Given the description of an element on the screen output the (x, y) to click on. 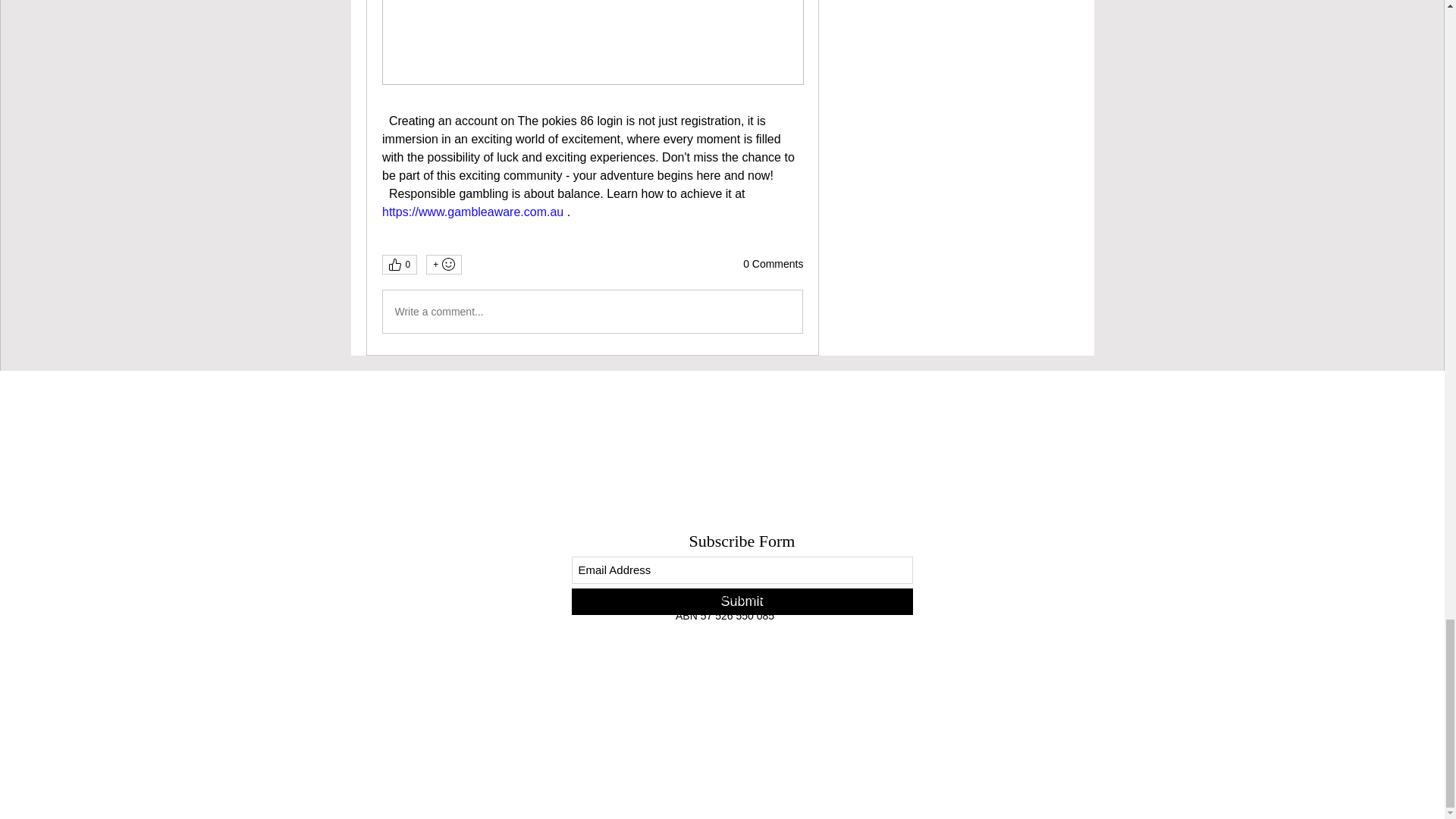
0 Comments (772, 264)
Write a comment... (591, 311)
Submit (742, 601)
